Given the description of an element on the screen output the (x, y) to click on. 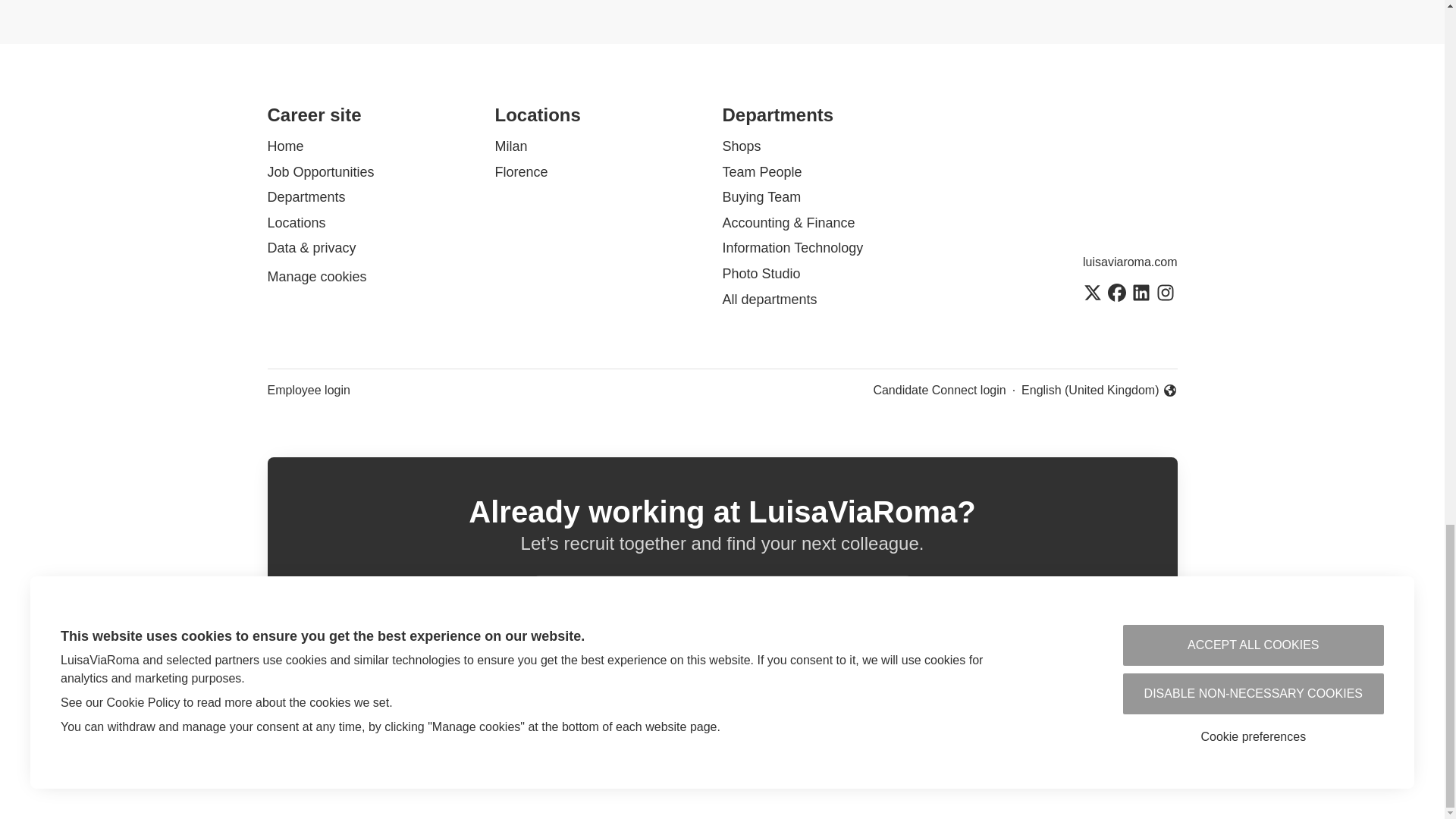
Florence (521, 171)
Manage cookies (316, 277)
Photo Studio (760, 273)
Log in (887, 598)
Change language (1099, 390)
All departments (769, 299)
Job Opportunities (320, 171)
Shops (741, 146)
Milan (511, 146)
Departments (305, 197)
